Given the description of an element on the screen output the (x, y) to click on. 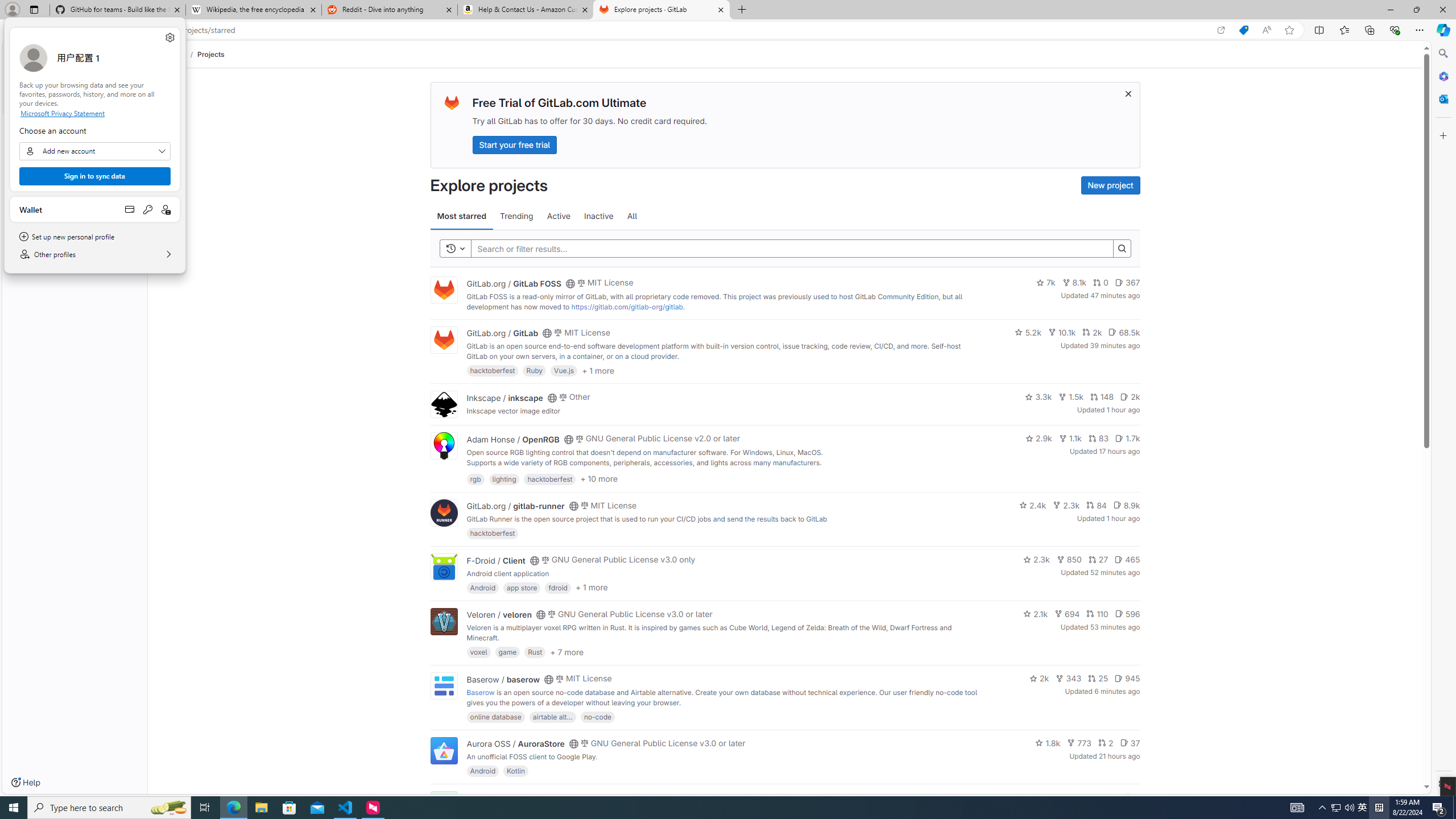
F-Droid / Client (495, 560)
1.1k (1069, 438)
Dismiss trial promotion (1128, 93)
Running applications (707, 807)
+ 1 more (591, 587)
27 (1097, 559)
Open in app (1220, 29)
